Given the description of an element on the screen output the (x, y) to click on. 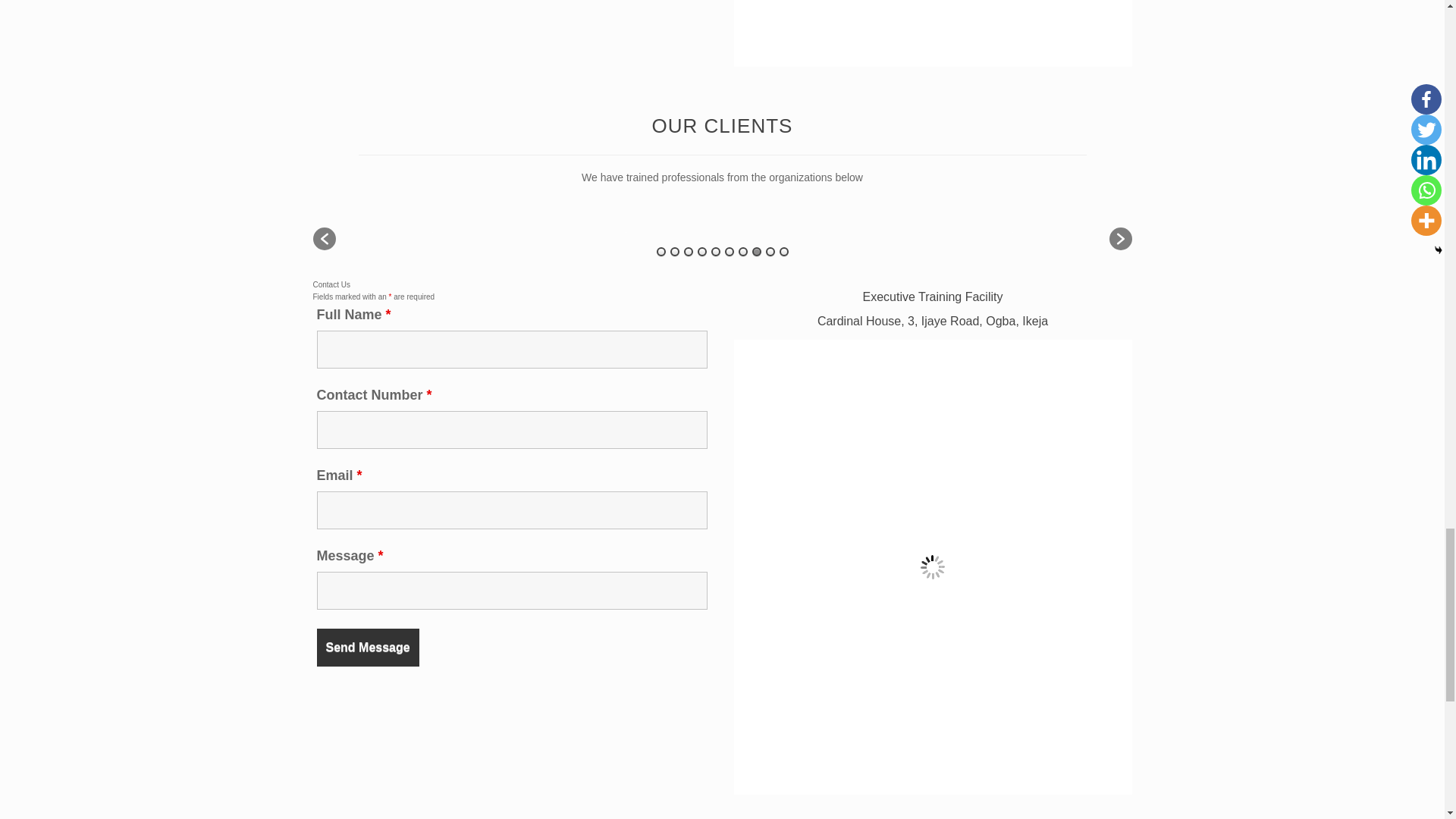
5 (715, 251)
8 (756, 251)
1 (660, 251)
6 (729, 251)
9 (769, 251)
7 (743, 251)
10 (783, 251)
4 (701, 251)
Send Message (368, 647)
2 (674, 251)
3 (688, 251)
Send Message (368, 647)
